Given the description of an element on the screen output the (x, y) to click on. 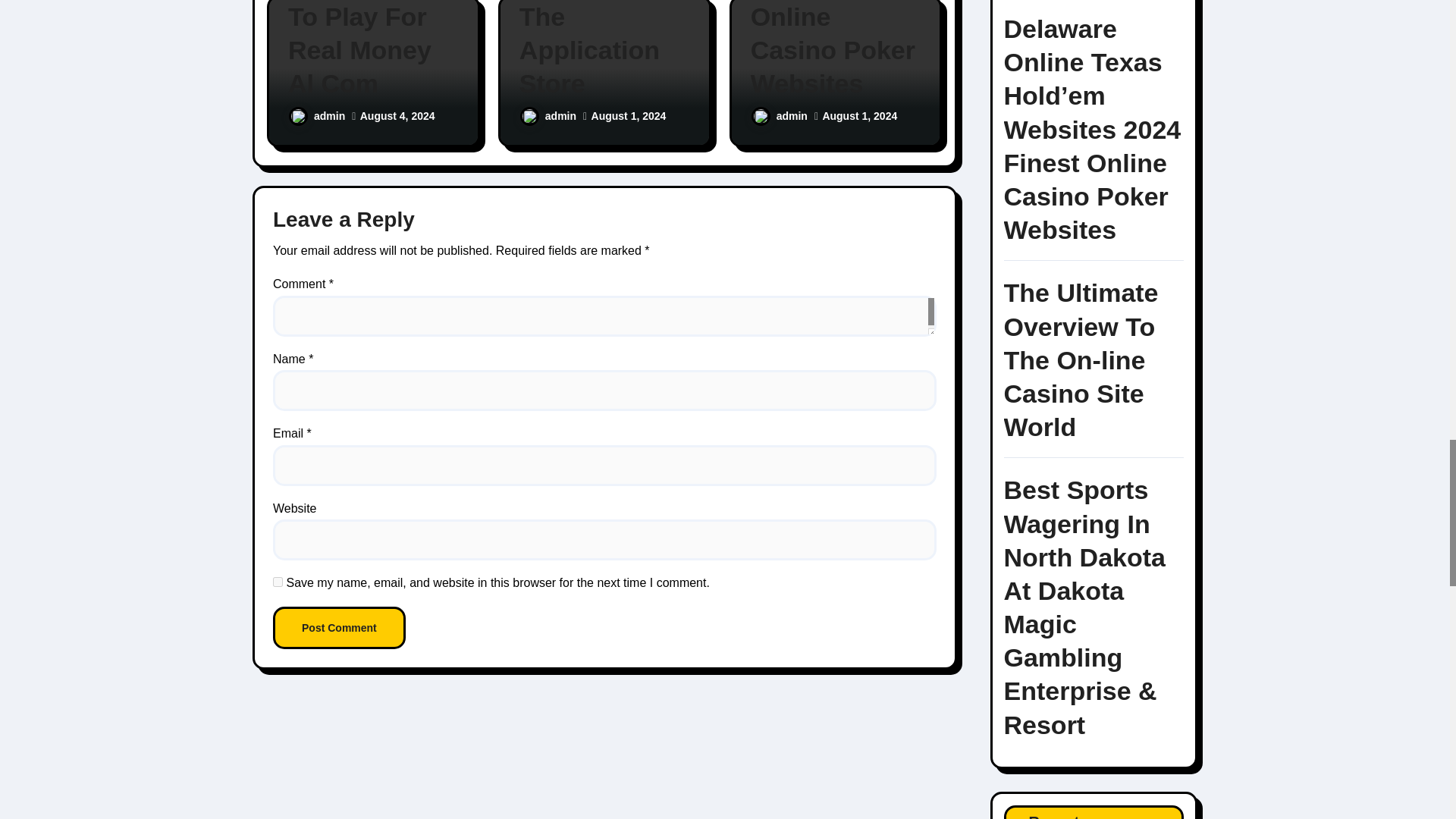
yes (277, 582)
Post Comment (339, 627)
